Given the description of an element on the screen output the (x, y) to click on. 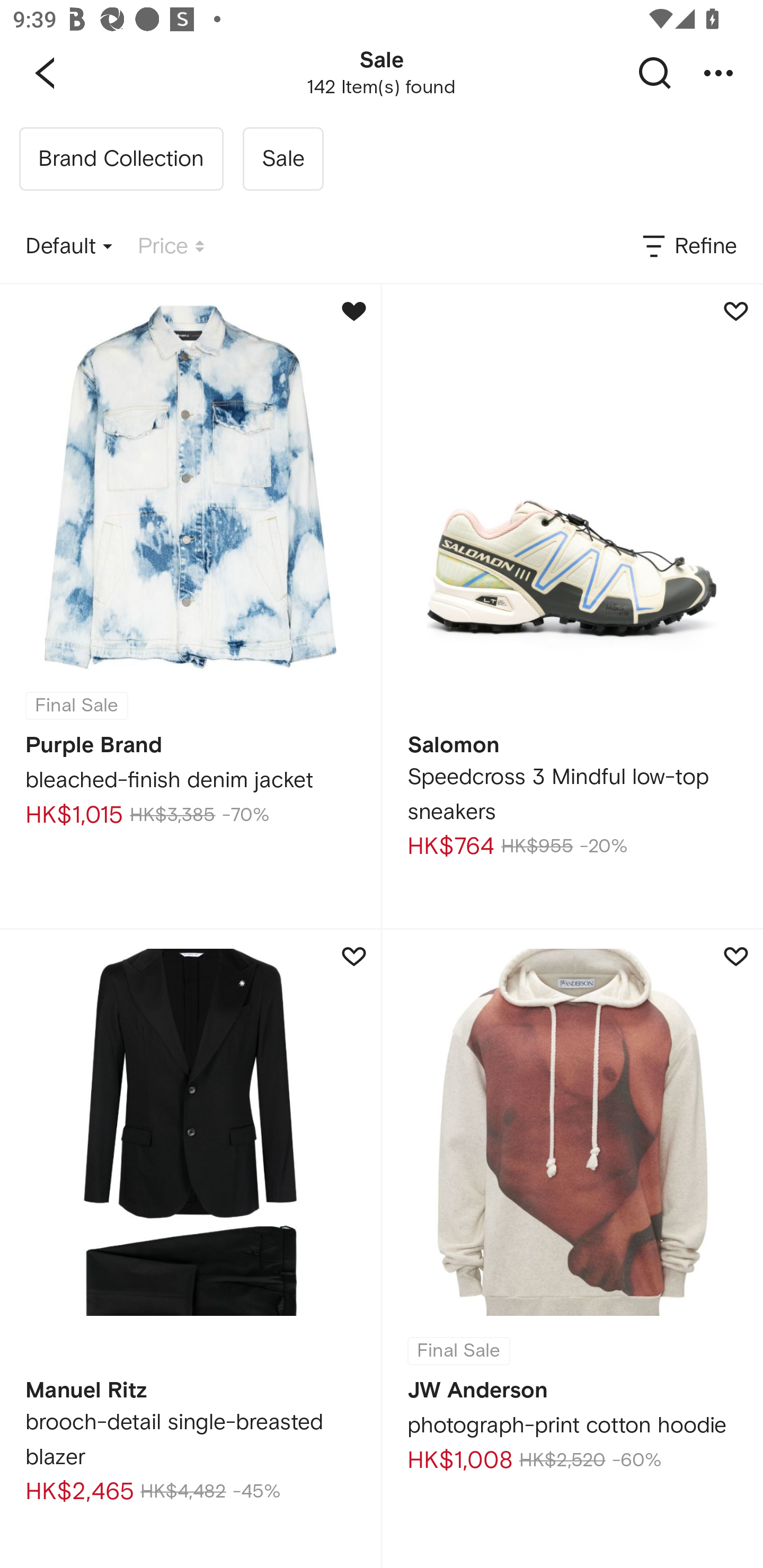
Brand Collection (121, 158)
Sale (282, 158)
Default (68, 246)
Price (171, 246)
Refine (688, 246)
